Given the description of an element on the screen output the (x, y) to click on. 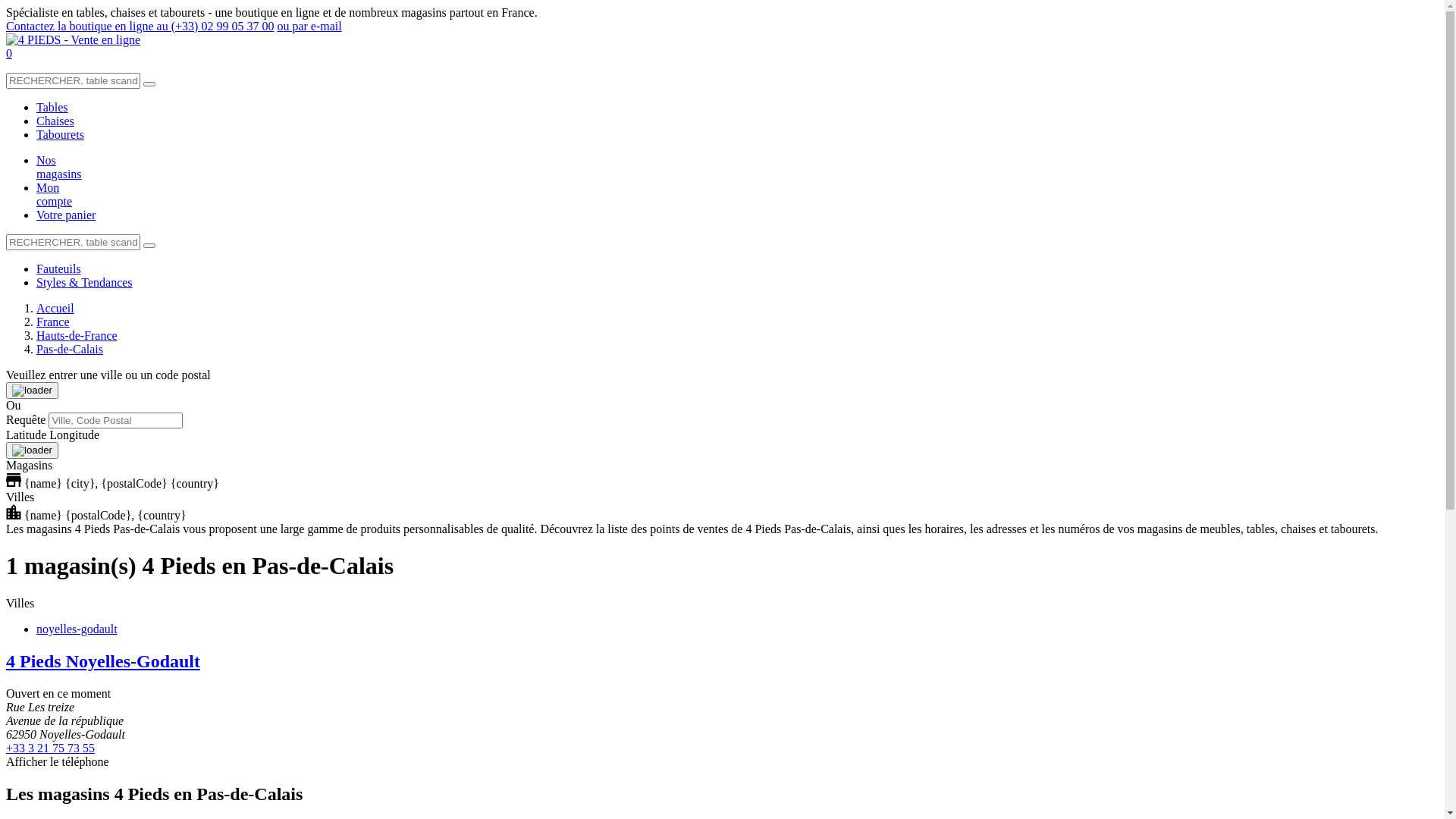
Mon
compte Element type: text (54, 194)
Accueil Element type: text (55, 307)
+33 3 21 75 73 55 Element type: text (50, 747)
Styles & Tendances Element type: text (84, 282)
Nos
magasins Element type: text (58, 166)
Contactez la boutique en ligne au (+33) 02 99 05 37 00 Element type: text (139, 25)
France Element type: text (52, 321)
Fauteuils Element type: text (58, 268)
Hauts-de-France Element type: text (76, 335)
4 Pieds Noyelles-Godault Element type: text (103, 661)
Tables Element type: text (52, 106)
Votre panier Element type: text (65, 214)
Pas-de-Calais Element type: text (69, 348)
ou par e-mail Element type: text (308, 25)
0 Element type: text (9, 53)
noyelles-godault Element type: text (76, 628)
Chaises Element type: text (55, 120)
Tabourets Element type: text (60, 134)
4 PIEDS - Vente en ligne Element type: hover (73, 39)
